Given the description of an element on the screen output the (x, y) to click on. 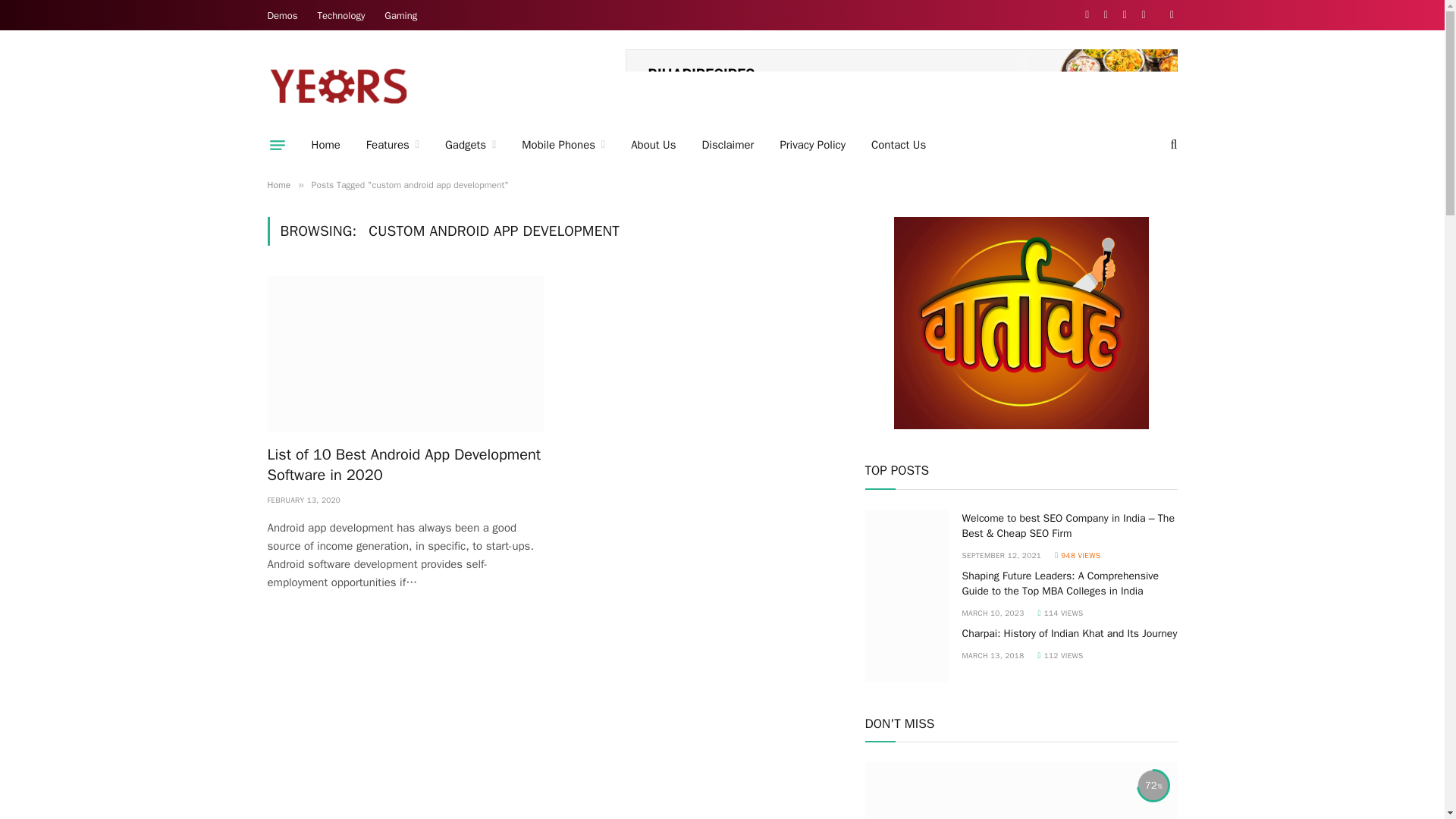
Technology (341, 15)
Features (392, 144)
Mobile Phones (562, 144)
Gadgets (470, 144)
Demos (282, 15)
Home (325, 144)
Switch to Dark Design - easier on eyes. (1170, 14)
Gaming (400, 15)
